Given the description of an element on the screen output the (x, y) to click on. 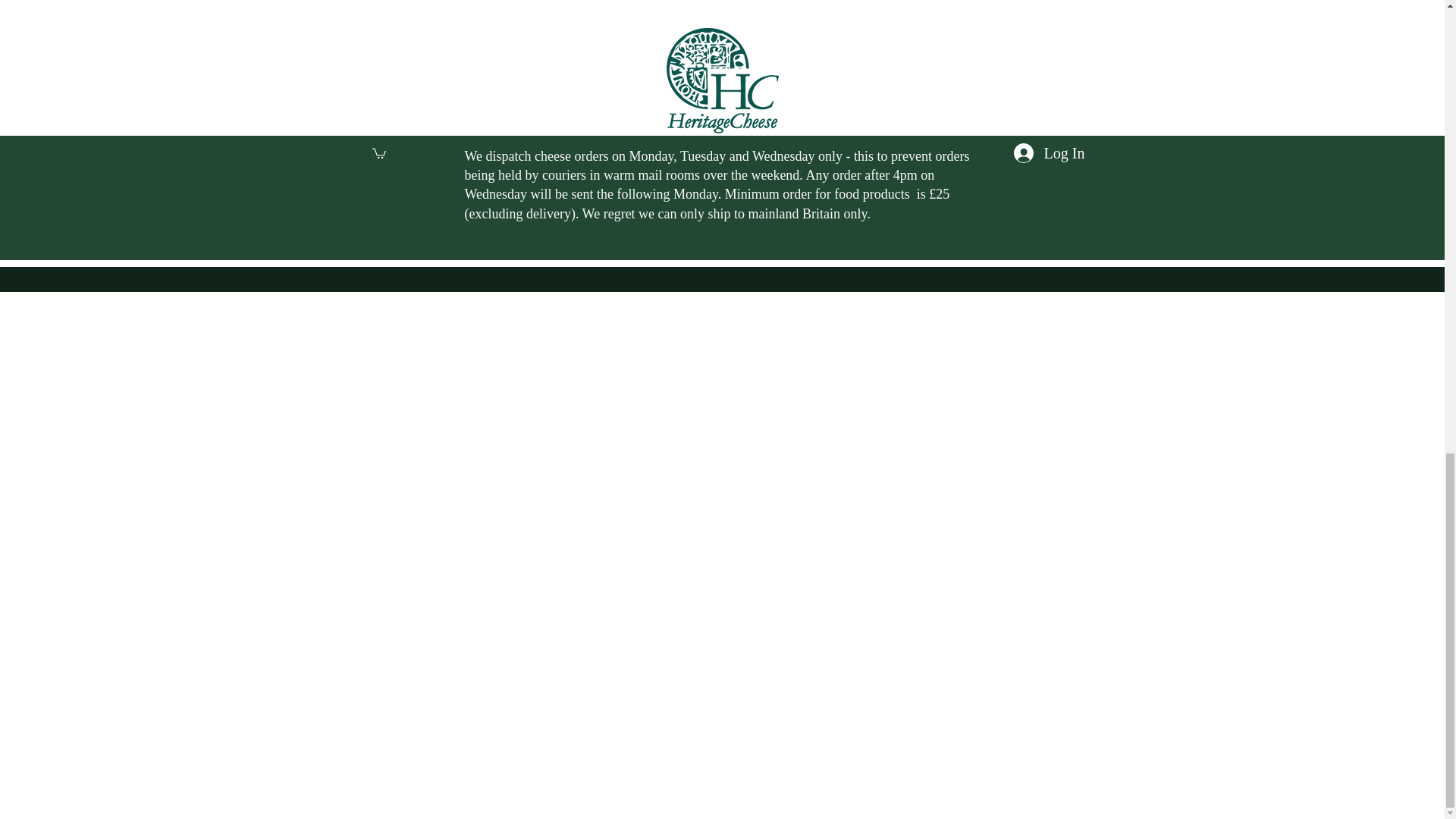
The Cheese Club (475, 70)
Blog (475, 228)
Heritage Cheese Kids Club (475, 11)
Dulwich Store Delivery (475, 168)
Dulwich Village Shop (475, 109)
Shop Online (475, 50)
Local Markets (475, 148)
Borough Market (475, 129)
About Us (475, 189)
Events (475, 89)
Contact Us (475, 208)
Catering (475, 30)
